Given the description of an element on the screen output the (x, y) to click on. 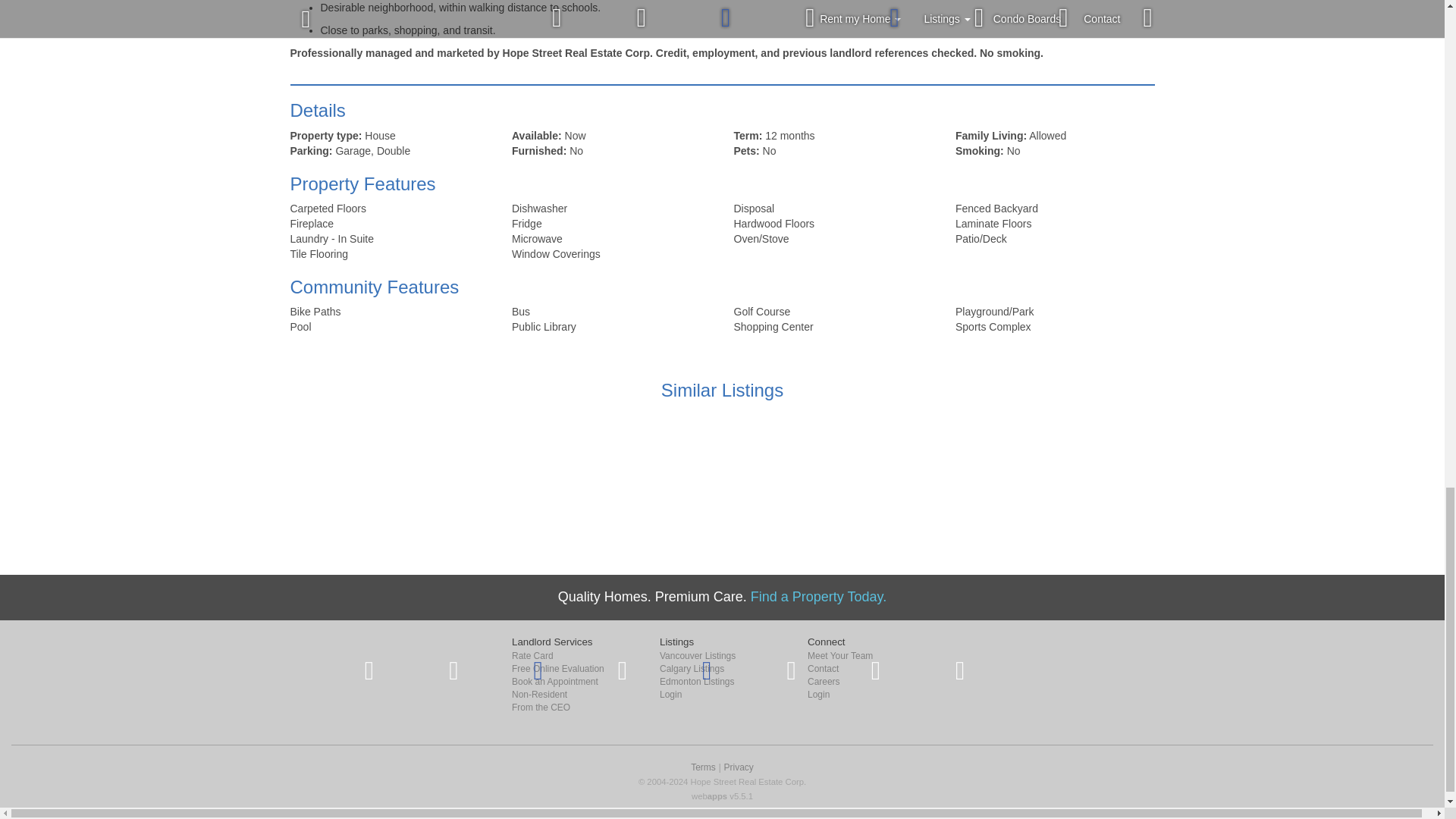
Non-Resident (574, 694)
From the CEO (574, 707)
Find a Property Today. (818, 596)
Rate Card (574, 656)
Book an Appointment (574, 681)
Free Online Evaluation (574, 668)
